Given the description of an element on the screen output the (x, y) to click on. 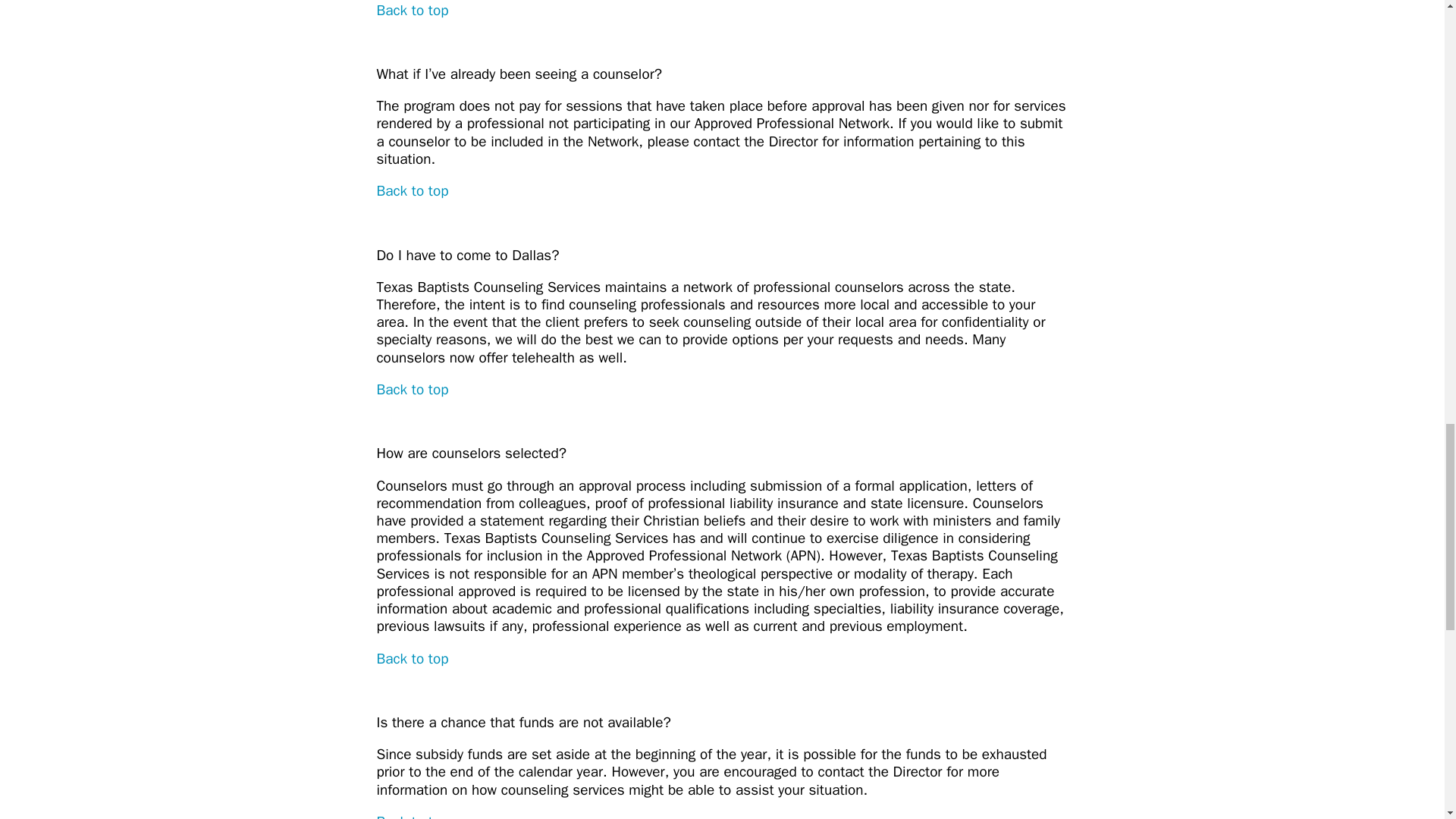
Back to top (411, 389)
Back to top (411, 10)
Back to top (411, 658)
Back to top (411, 816)
Back to top (411, 190)
